Given the description of an element on the screen output the (x, y) to click on. 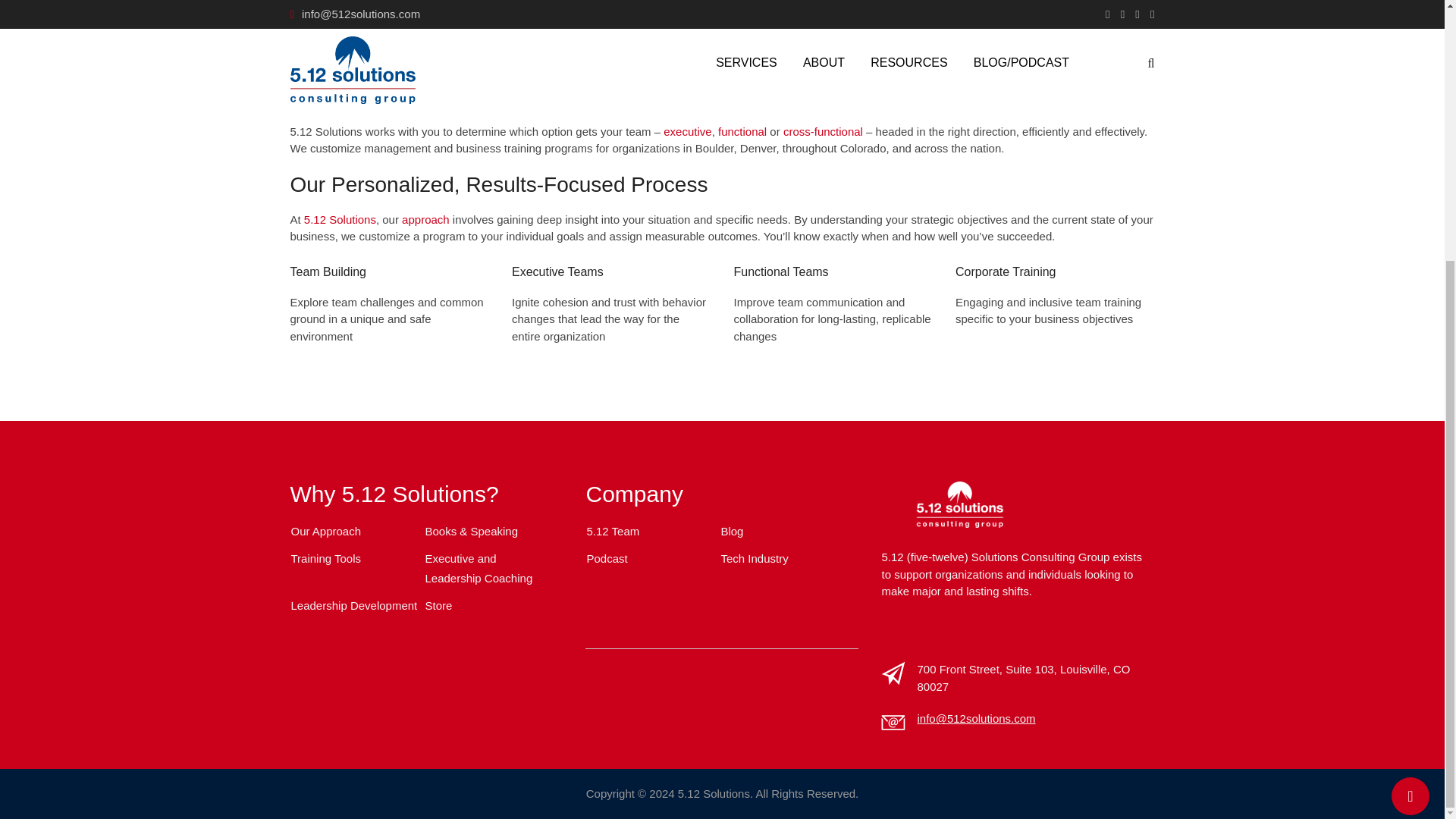
executive (687, 131)
Training Tools (326, 558)
5.12 Solutions (339, 219)
functional (742, 131)
team-building (1093, 74)
Executive and Leadership Coaching (478, 568)
Our Approach (326, 530)
approach (425, 219)
cross-functional (823, 131)
